Given the description of an element on the screen output the (x, y) to click on. 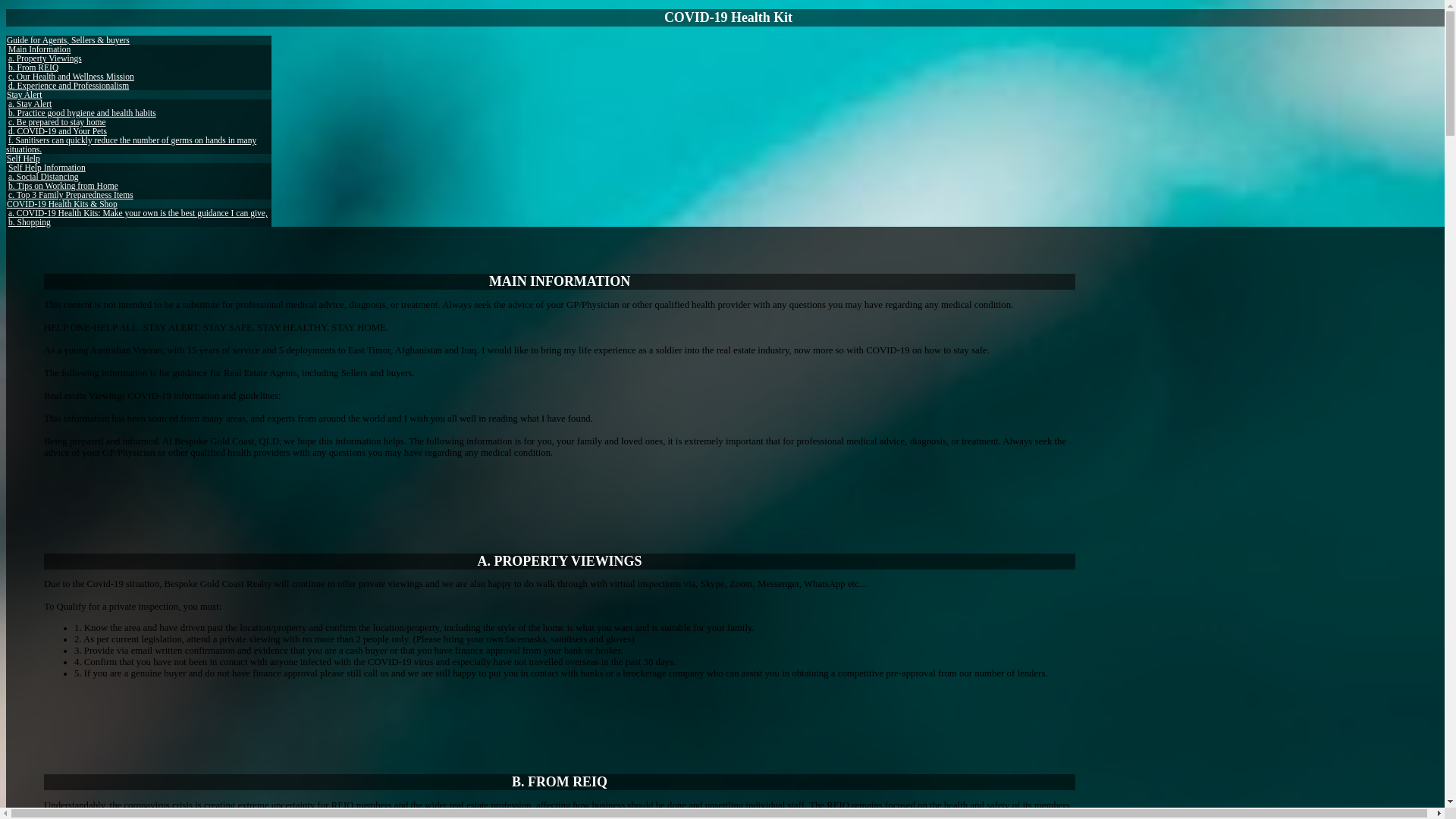
c. Top 3 Family Preparedness Items Element type: text (70, 194)
d. Experience and Professionalism Element type: text (68, 85)
Guide for Agents, Sellers & buyers Element type: text (68, 39)
b. Shopping Element type: text (29, 221)
Self Help Element type: text (23, 158)
b. Tips on Working from Home Element type: text (63, 185)
b. From REIQ Element type: text (33, 67)
c. Be prepared to stay home Element type: text (56, 121)
b. Practice good hygiene and health habits Element type: text (81, 112)
a. Social Distancing Element type: text (42, 176)
Self Help Information Element type: text (46, 167)
a. Stay Alert Element type: text (29, 103)
Stay Alert Element type: text (24, 94)
c. Our Health and Wellness Mission Element type: text (70, 76)
d. COVID-19 and Your Pets Element type: text (57, 130)
a. Property Viewings Element type: text (44, 58)
Main Information Element type: text (39, 48)
COVID-19 Health Kits & Shop Element type: text (62, 203)
